Given the description of an element on the screen output the (x, y) to click on. 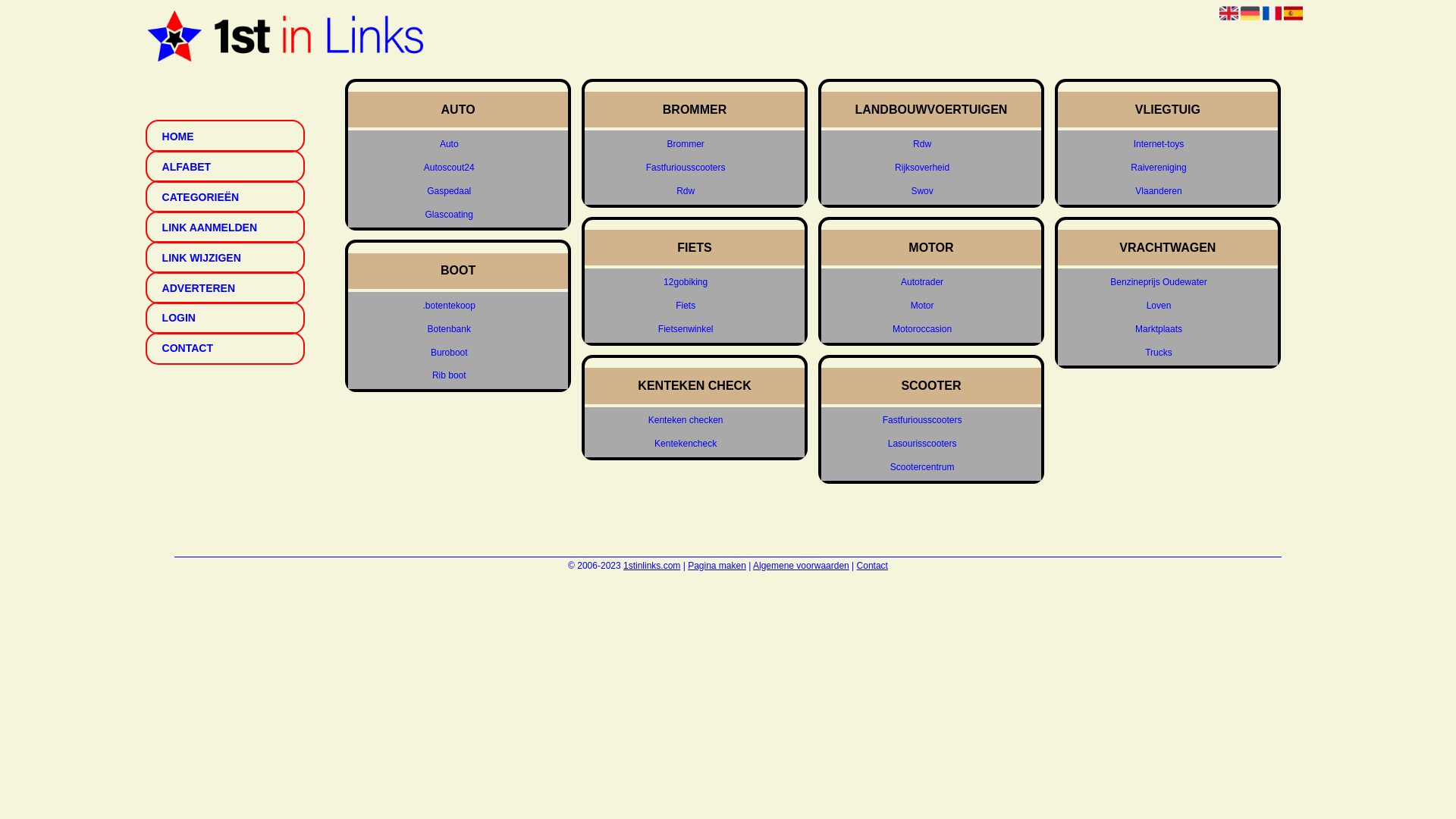
Glascoating Element type: text (449, 213)
Auto Element type: text (449, 144)
Fietsenwinkel Element type: text (685, 328)
Gaspedaal Element type: text (449, 190)
Brommer Element type: text (685, 144)
LOGIN Element type: text (224, 317)
Kenteken checken Element type: text (685, 420)
HOME Element type: text (224, 135)
Rib boot Element type: text (449, 375)
LINK AANMELDEN Element type: text (224, 226)
Autotrader Element type: text (921, 282)
Fastfuriousscooters Element type: text (921, 420)
Botenbank Element type: text (449, 328)
1stinlinks.com Element type: text (651, 565)
Marktplaats Element type: text (1158, 328)
Motor Element type: text (921, 305)
Lasourisscooters Element type: text (921, 443)
Benzineprijs Oudewater Element type: text (1158, 282)
Loven Element type: text (1158, 305)
Internet-toys Element type: text (1158, 144)
Rdw Element type: text (685, 190)
Kentekencheck Element type: text (685, 443)
12gobiking Element type: text (685, 282)
Autoscout24 Element type: text (449, 167)
Vlaanderen Element type: text (1158, 190)
CONTACT Element type: text (224, 348)
Fastfuriousscooters Element type: text (685, 167)
Raivereniging Element type: text (1158, 167)
LINK WIJZIGEN Element type: text (224, 257)
Rijksoverheid Element type: text (921, 167)
ALFABET Element type: text (224, 166)
Algemene voorwaarden Element type: text (801, 565)
Pagina maken Element type: text (716, 565)
ADVERTEREN Element type: text (224, 287)
Rdw Element type: text (921, 144)
Swov Element type: text (921, 190)
Trucks Element type: text (1158, 352)
Contact Element type: text (872, 565)
Scootercentrum Element type: text (921, 466)
.botentekoop Element type: text (449, 305)
Motoroccasion Element type: text (921, 328)
Buroboot Element type: text (449, 352)
Fiets Element type: text (685, 305)
